Given the description of an element on the screen output the (x, y) to click on. 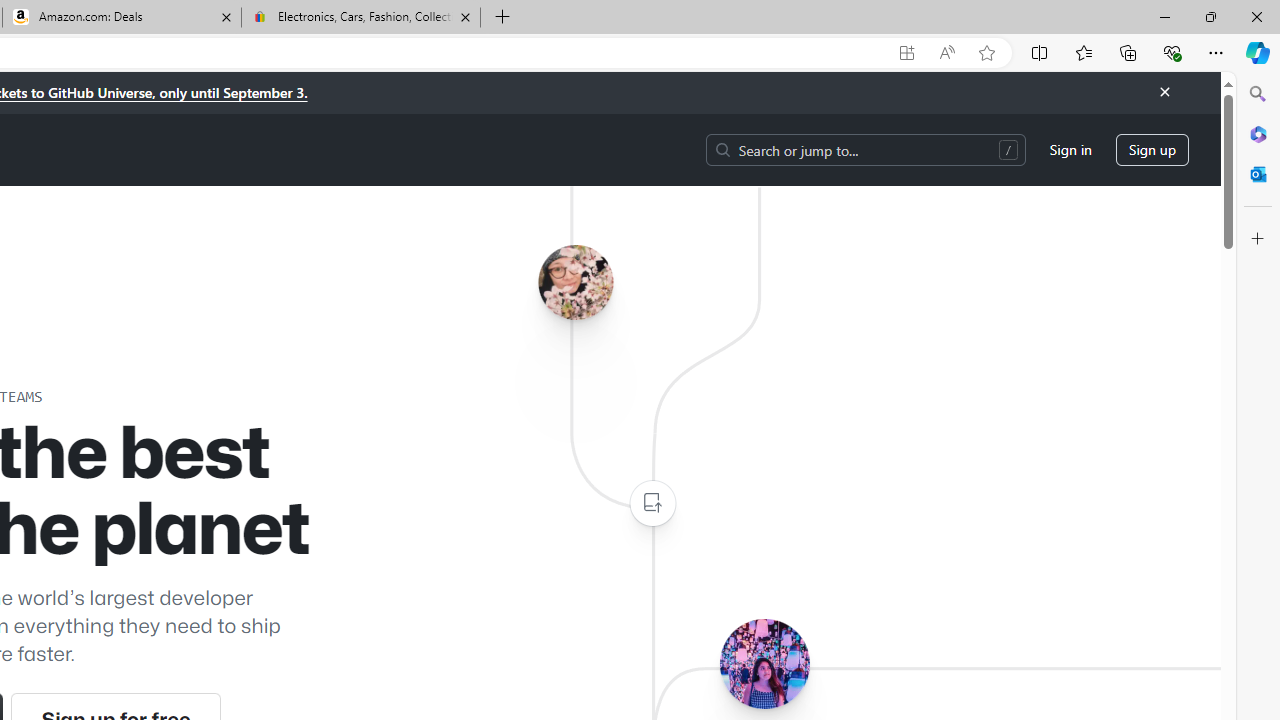
Avatar of the user ohjoycelau (575, 281)
Sign up (1152, 149)
